Given the description of an element on the screen output the (x, y) to click on. 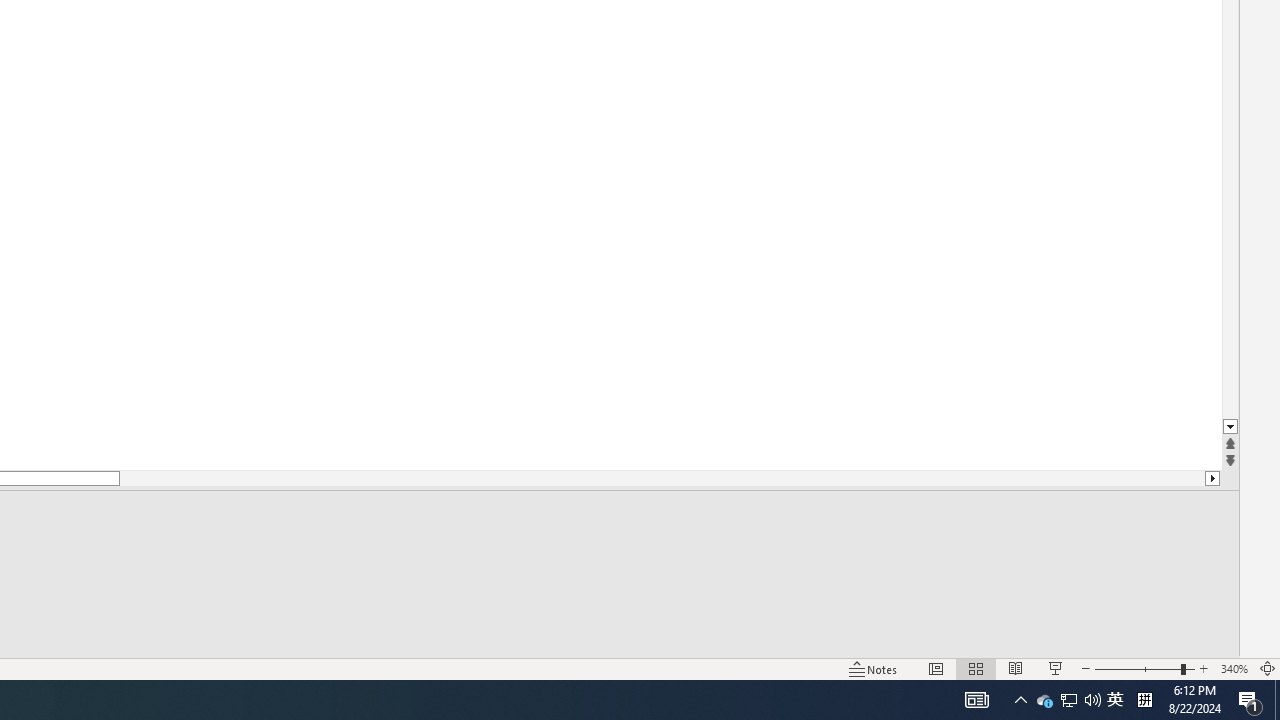
Zoom 340% (1234, 668)
